Given the description of an element on the screen output the (x, y) to click on. 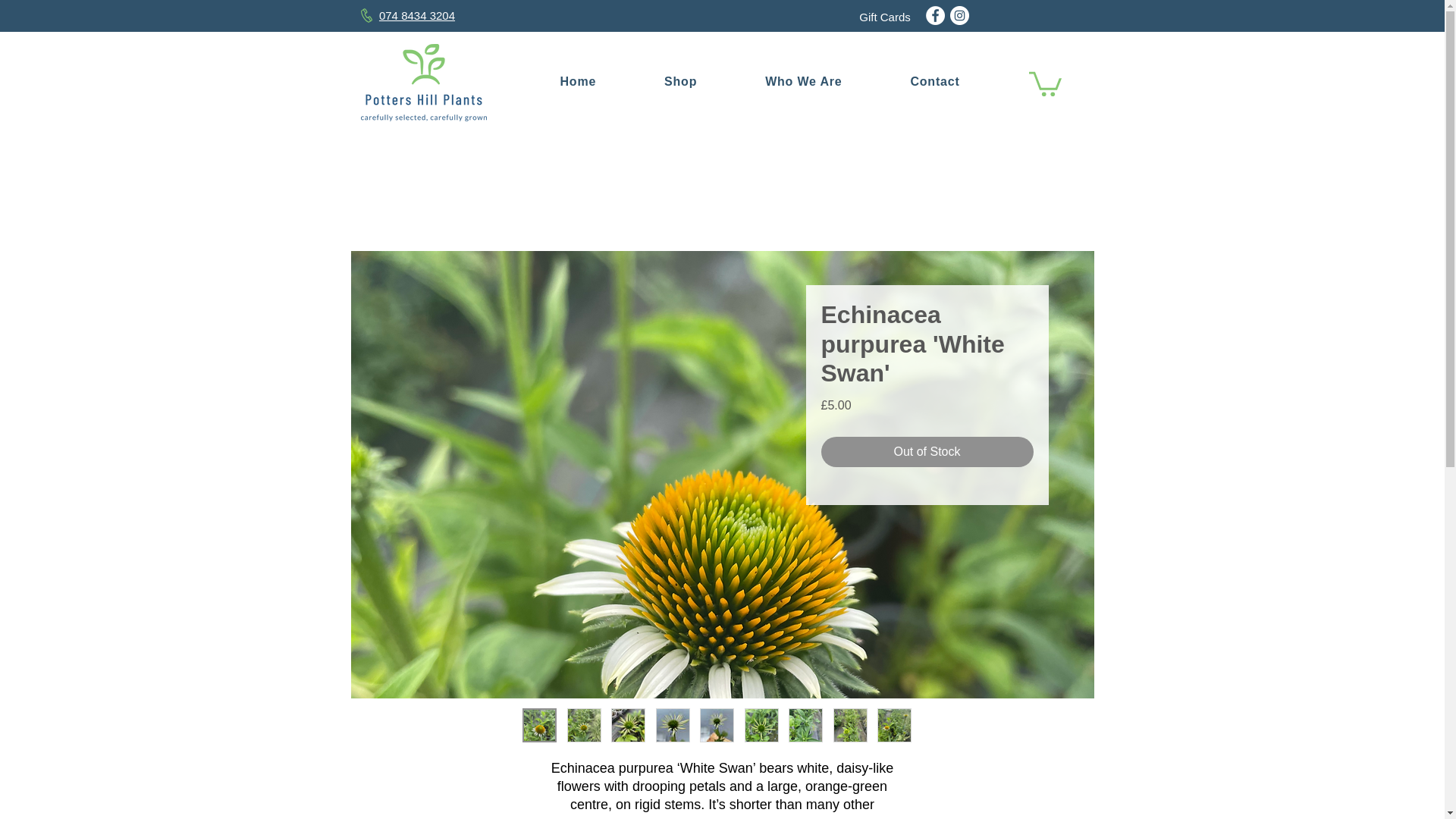
Gift Cards (885, 16)
Home (578, 81)
Who We Are (802, 81)
074 8434 3204 (416, 15)
Contact (934, 81)
Out of Stock (926, 451)
